Given the description of an element on the screen output the (x, y) to click on. 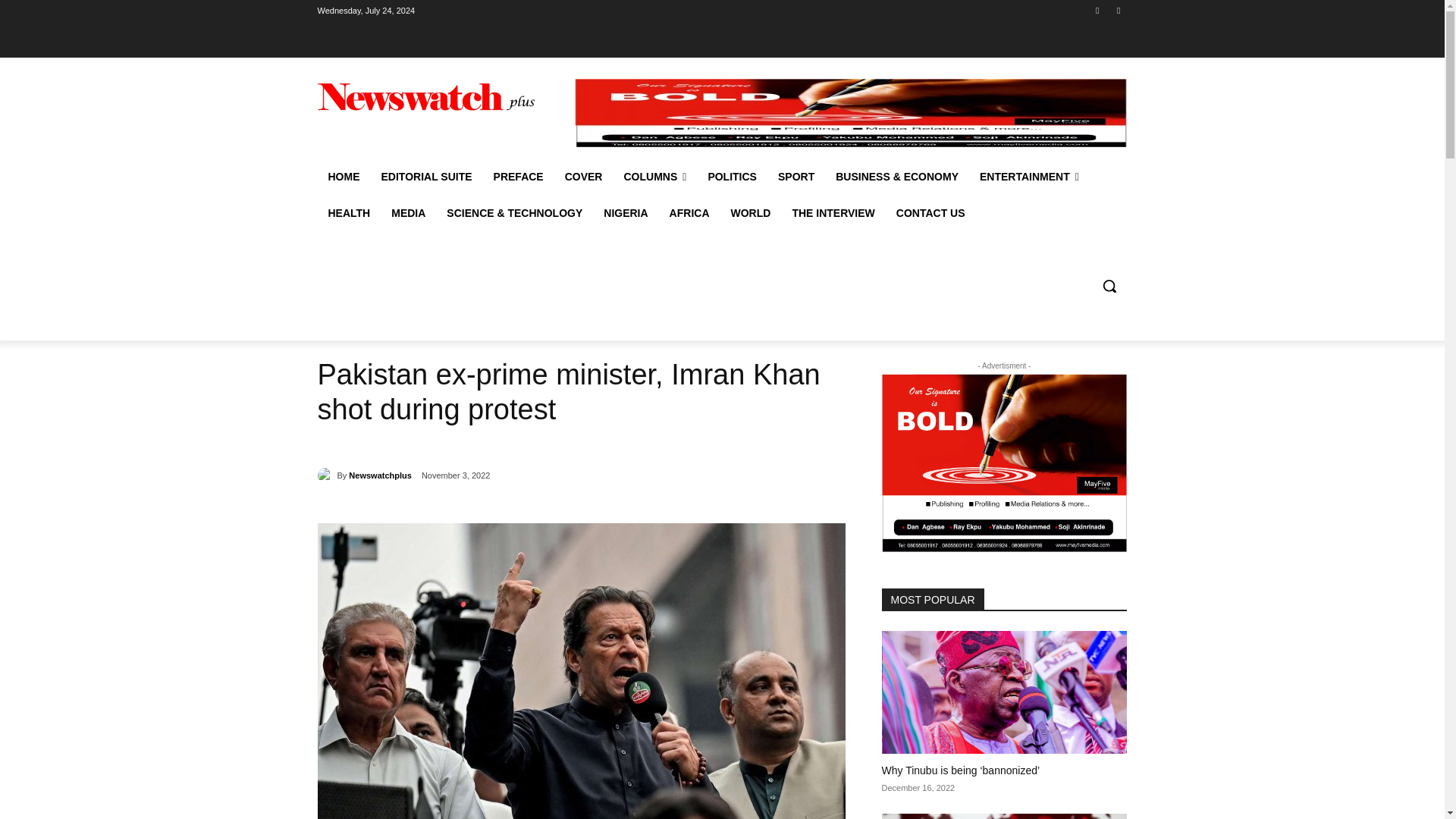
EDITORIAL SUITE (425, 176)
POLITICS (732, 176)
Newswatchplus (326, 475)
HOME (343, 176)
Twitter (1117, 9)
PREFACE (518, 176)
Facebook (1097, 9)
SPORT (796, 176)
COLUMNS (654, 176)
COVER (583, 176)
